Given the description of an element on the screen output the (x, y) to click on. 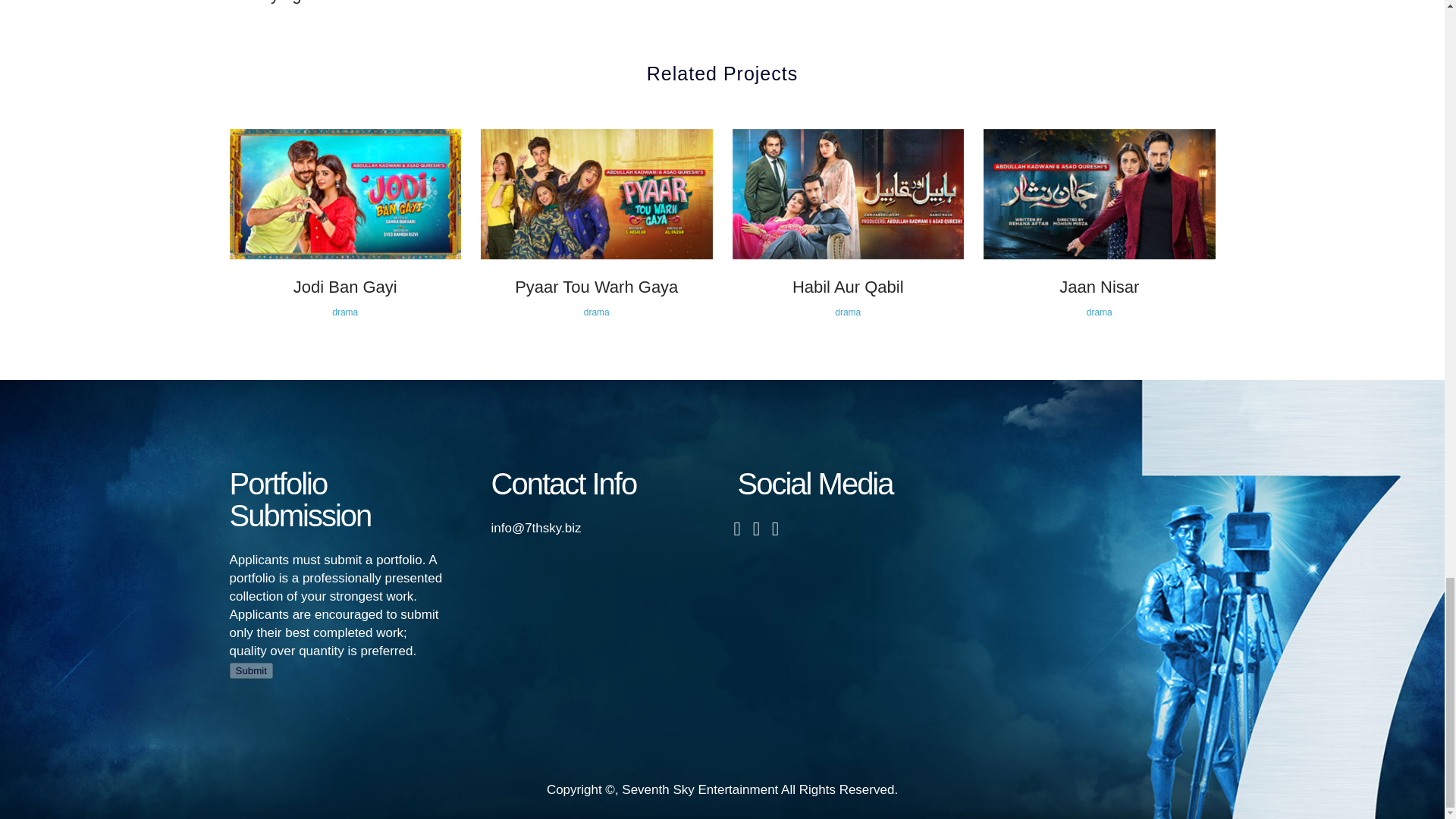
Jodi Ban Gayi (345, 286)
Pyaar Tou Warh Gaya (596, 286)
Submit (250, 670)
Submit (250, 670)
Jaan Nisar (280, 4)
Habil Aur Qabil (1098, 286)
